Given the description of an element on the screen output the (x, y) to click on. 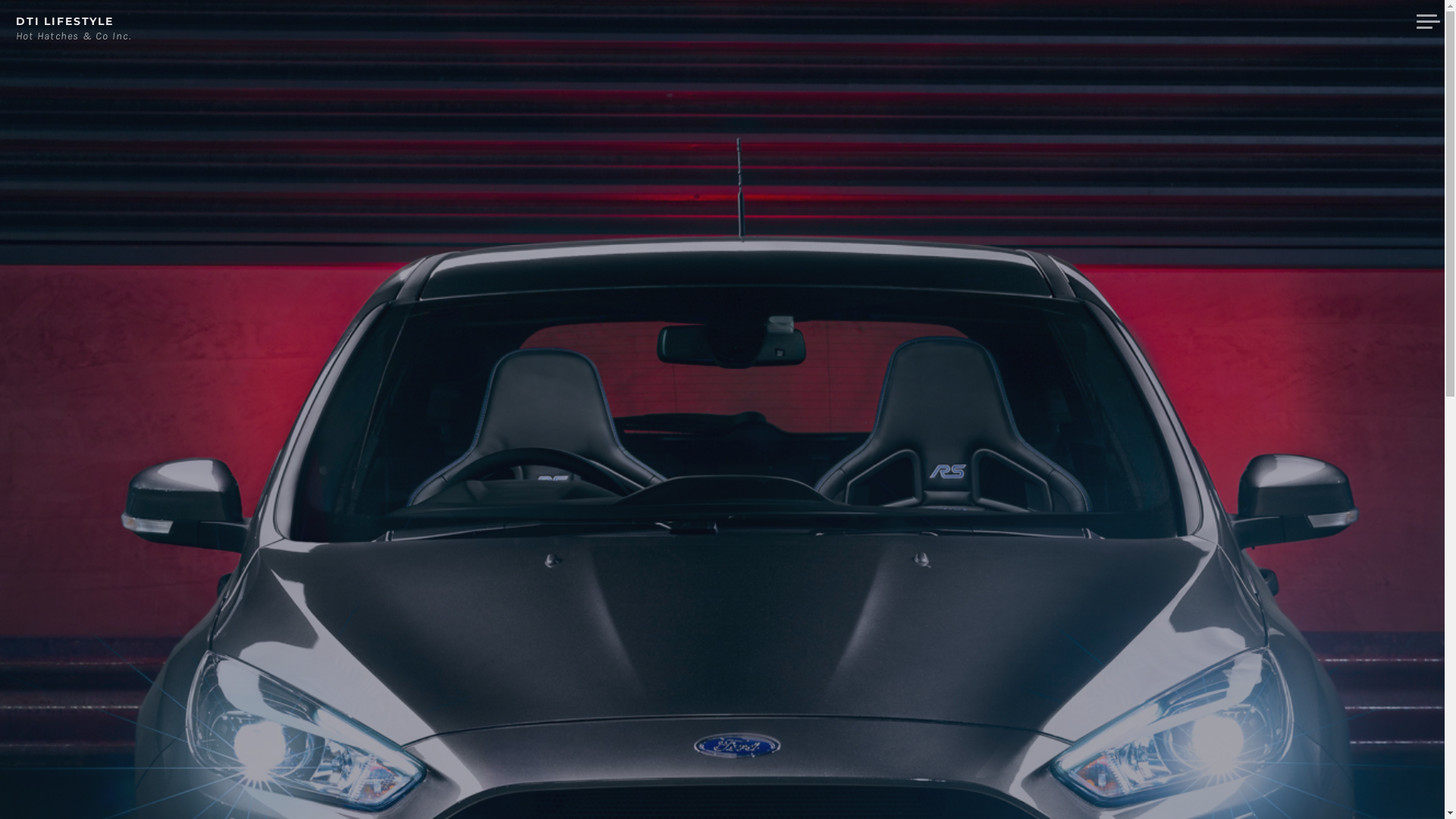
DTI LIFESTYLE Element type: text (64, 21)
